Given the description of an element on the screen output the (x, y) to click on. 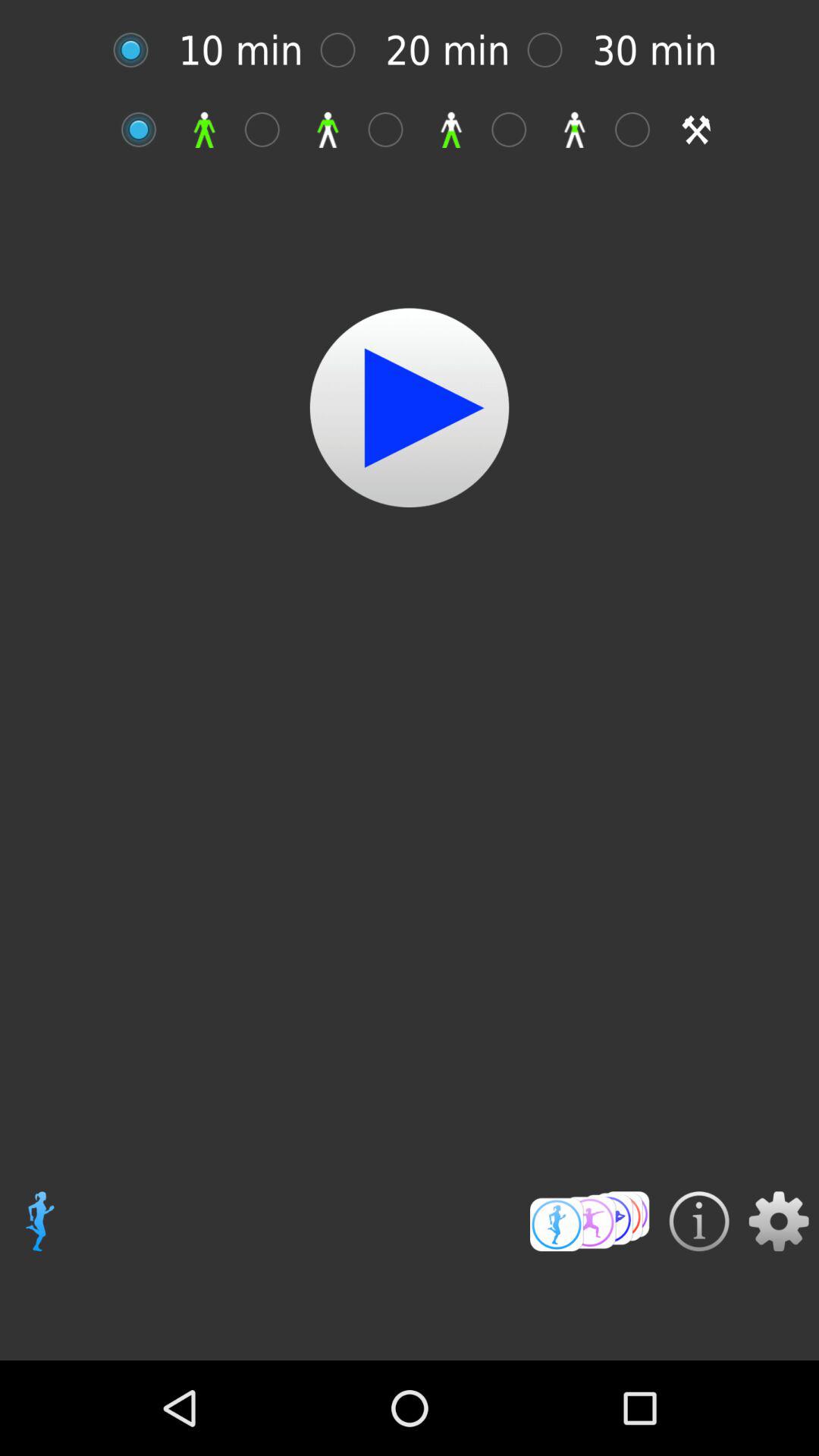
play the music (409, 407)
